Given the description of an element on the screen output the (x, y) to click on. 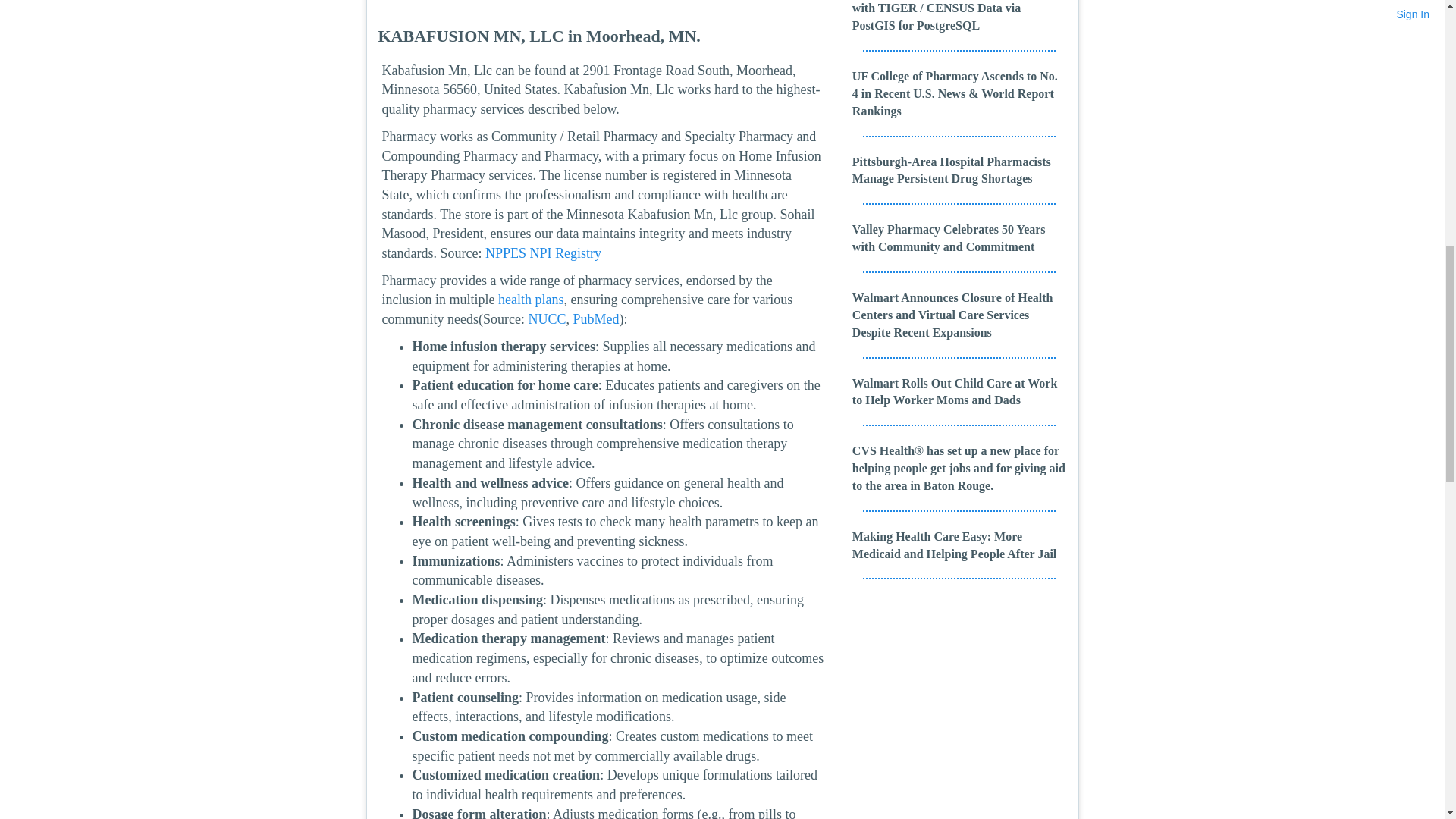
PubMed (595, 319)
NPPES NPI Registry (542, 253)
health plans (530, 299)
NUCC (546, 319)
